Given the description of an element on the screen output the (x, y) to click on. 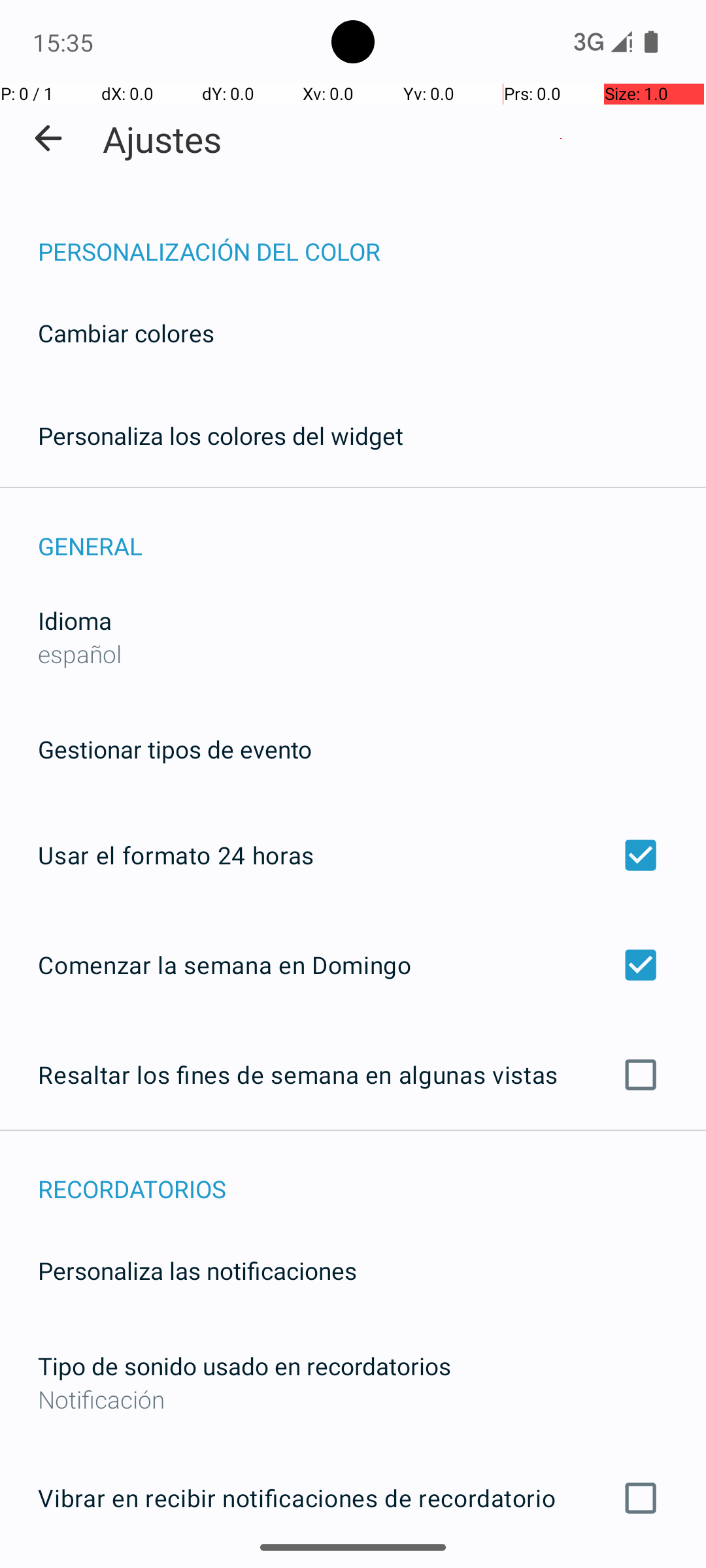
PERSONALIZACIÓN DEL COLOR Element type: android.widget.TextView (371, 237)
RECORDATORIOS Element type: android.widget.TextView (371, 1174)
Cambiar colores Element type: android.widget.TextView (125, 332)
Personaliza los colores del widget Element type: android.widget.TextView (220, 435)
Idioma Element type: android.widget.TextView (74, 620)
español Element type: android.widget.TextView (79, 653)
Gestionar tipos de evento Element type: android.widget.TextView (174, 748)
Usar el formato 24 horas Element type: android.widget.CheckBox (352, 855)
Comenzar la semana en Domingo Element type: android.widget.CheckBox (352, 964)
Resaltar los fines de semana en algunas vistas Element type: android.widget.CheckBox (352, 1074)
Personaliza las notificaciones Element type: android.widget.TextView (196, 1270)
Tipo de sonido usado en recordatorios Element type: android.widget.TextView (244, 1365)
Notificación Element type: android.widget.TextView (352, 1398)
Vibrar en recibir notificaciones de recordatorio Element type: android.widget.CheckBox (352, 1497)
Repetir recordatorios hasta ser descartados Element type: android.widget.CheckBox (352, 1567)
